Given the description of an element on the screen output the (x, y) to click on. 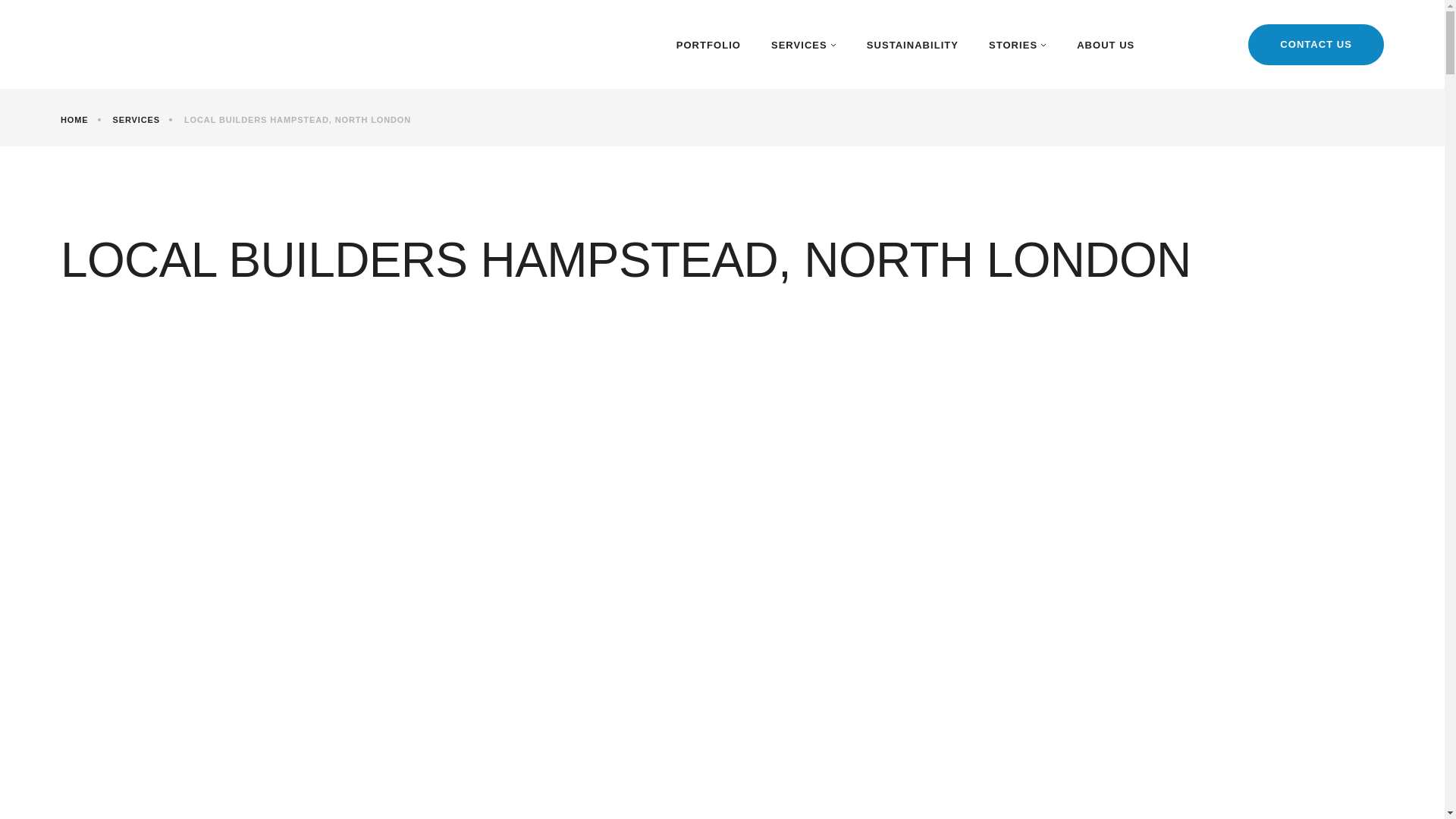
CONTACT US (1315, 44)
SERVICES (803, 44)
SERVICES (142, 119)
ABOUT US (1105, 44)
STORIES (1017, 44)
PORTFOLIO (709, 44)
SUSTAINABILITY (912, 44)
HOME (80, 119)
